Given the description of an element on the screen output the (x, y) to click on. 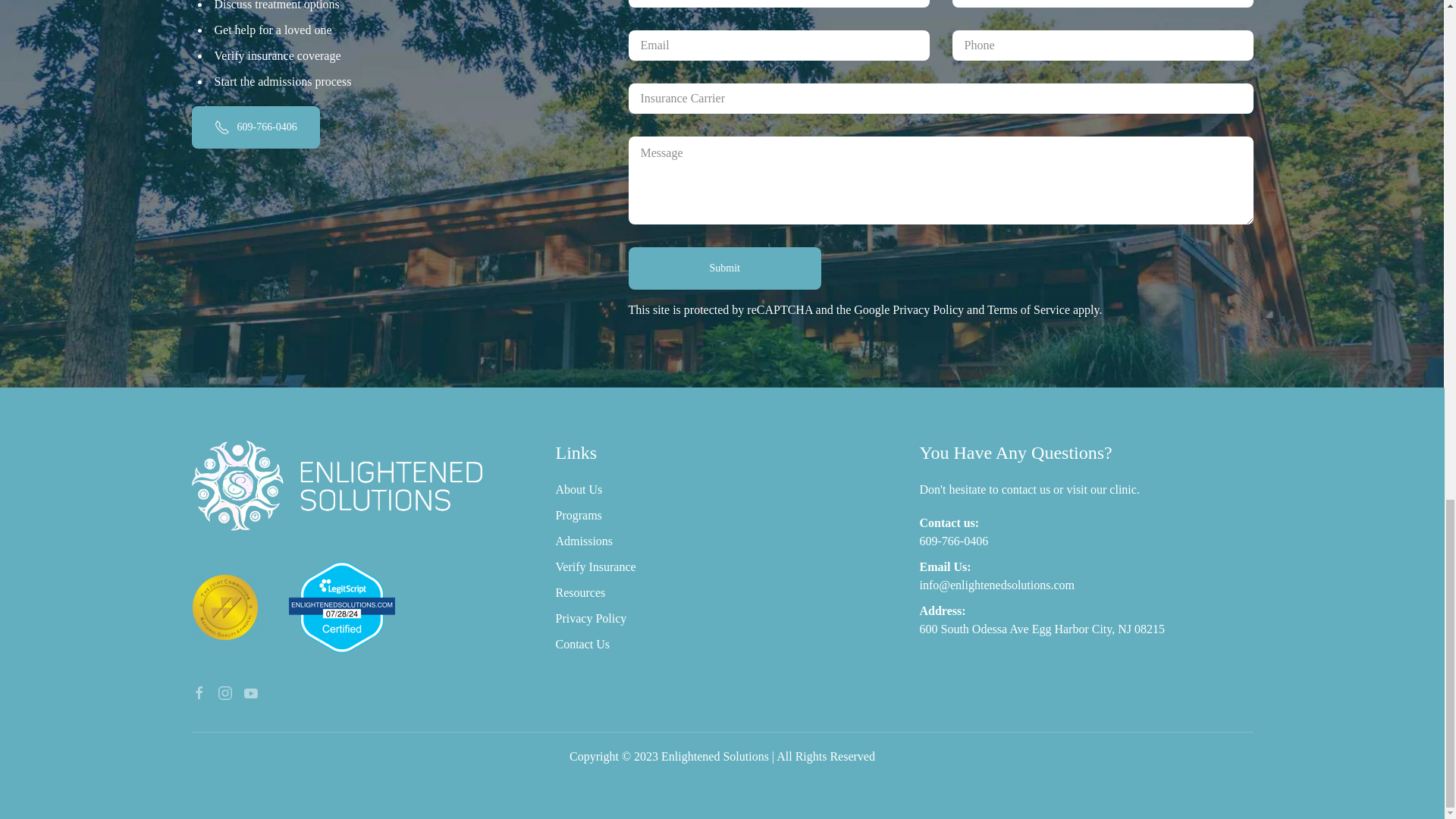
Submit (724, 268)
Verify LegitScript Approval (341, 604)
